Given the description of an element on the screen output the (x, y) to click on. 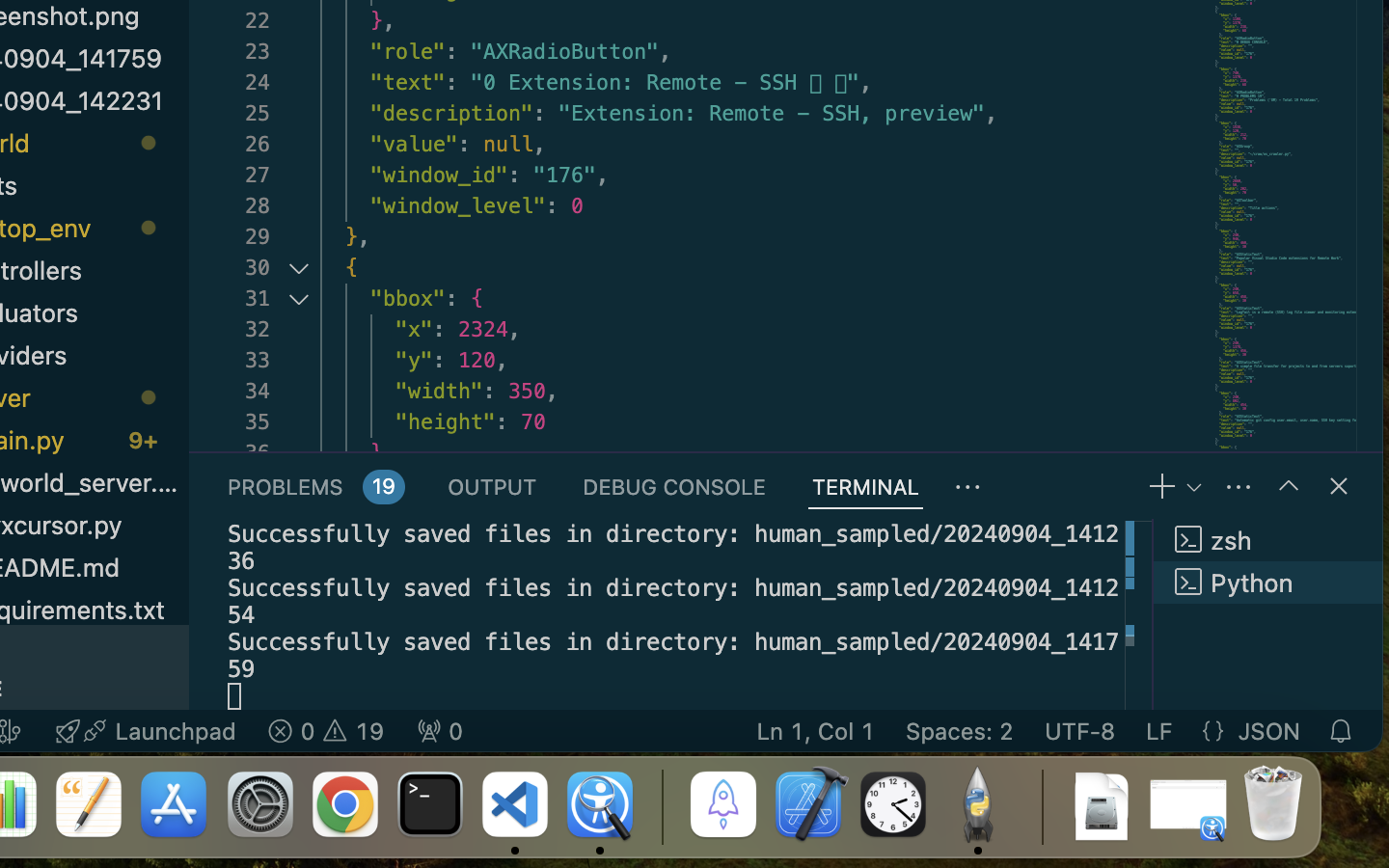
0 PROBLEMS 19 Element type: AXRadioButton (315, 485)
0.4285714328289032 Element type: AXDockItem (660, 805)
0 OUTPUT Element type: AXRadioButton (492, 485)
0 DEBUG CONSOLE Element type: AXRadioButton (674, 485)
1 TERMINAL Element type: AXRadioButton (866, 485)
